Given the description of an element on the screen output the (x, y) to click on. 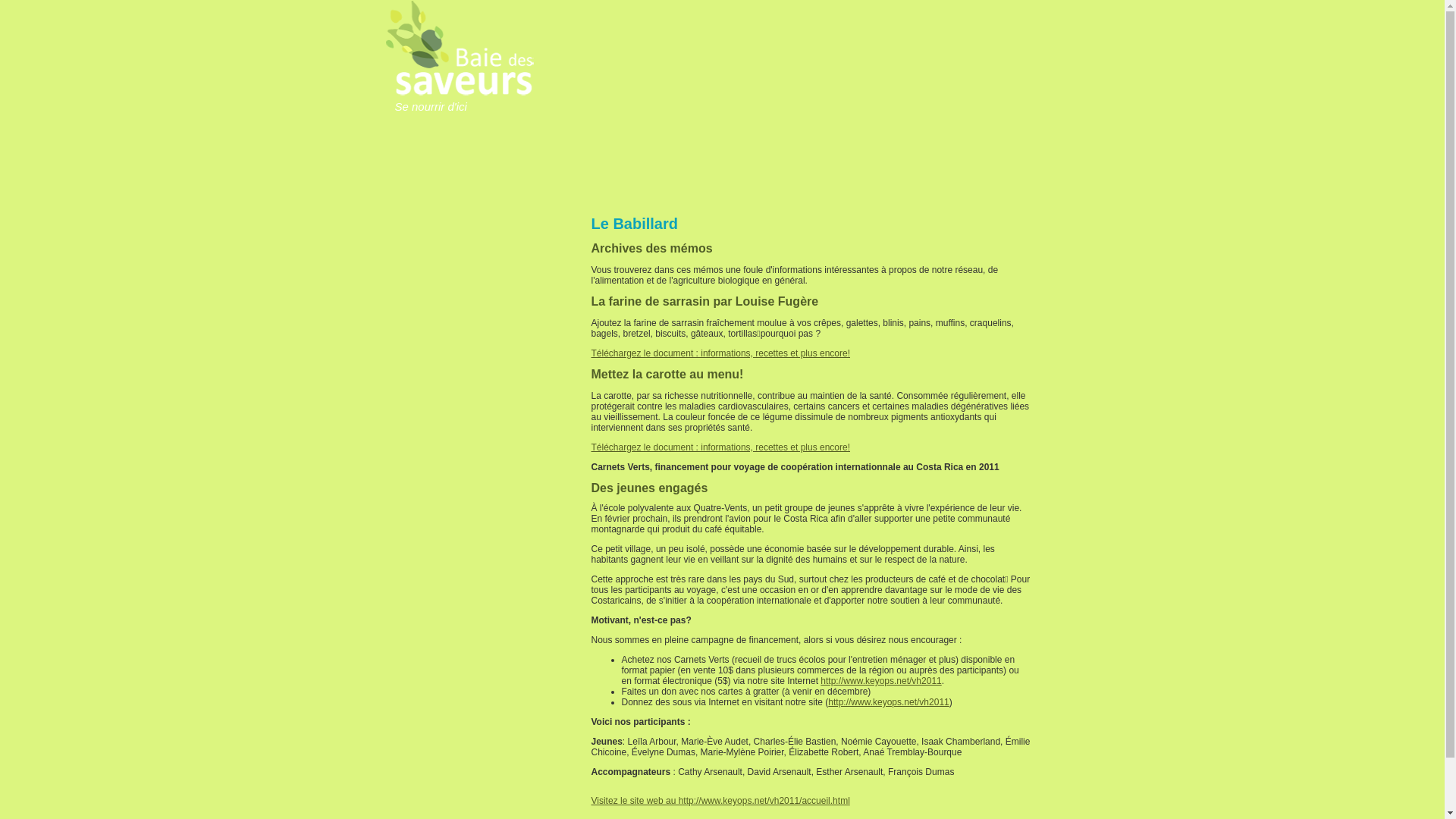
Calendriers Element type: text (461, 260)
http://www.keyops.net/vh2011 Element type: text (888, 701)
Accueil Element type: text (461, 185)
Accueil Baie des saveurs Element type: hover (459, 95)
Babillard Element type: text (1056, 18)
Points de chute Element type: text (461, 285)
Baie-des-Saveurs Element type: text (461, 210)
http://www.keyops.net/vh2011 Element type: text (880, 680)
Commander Element type: text (421, 408)
Je veux devenir membre Element type: text (429, 357)
Produits et producteurs Element type: text (461, 235)
